Given the description of an element on the screen output the (x, y) to click on. 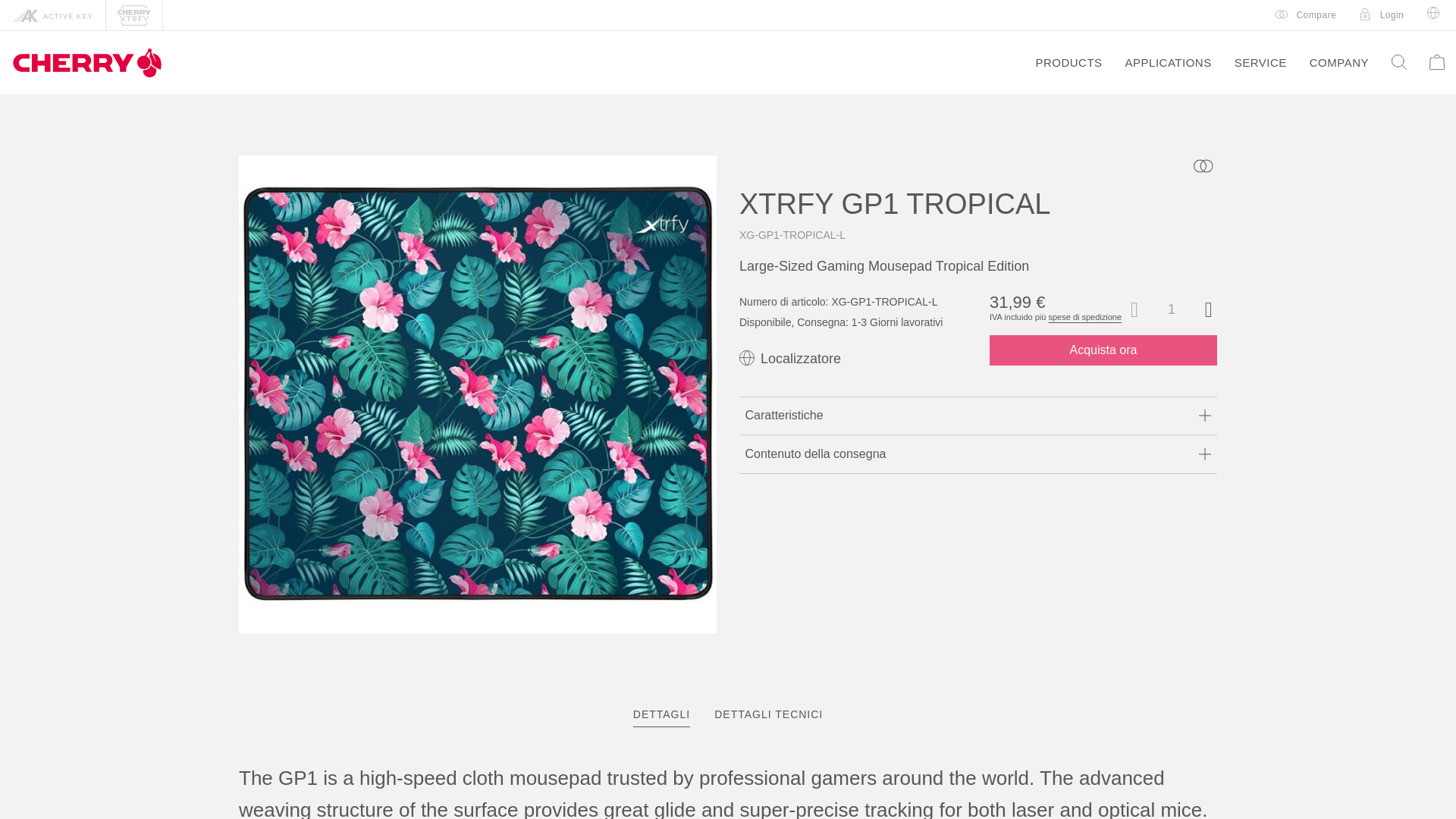
PRODUCTS (1068, 62)
1 (727, 714)
Login (1171, 308)
Localizzatore (1381, 15)
Disponibilita' (790, 358)
Compare (852, 322)
Active Key (1305, 15)
spese di spedizione (53, 15)
